Given the description of an element on the screen output the (x, y) to click on. 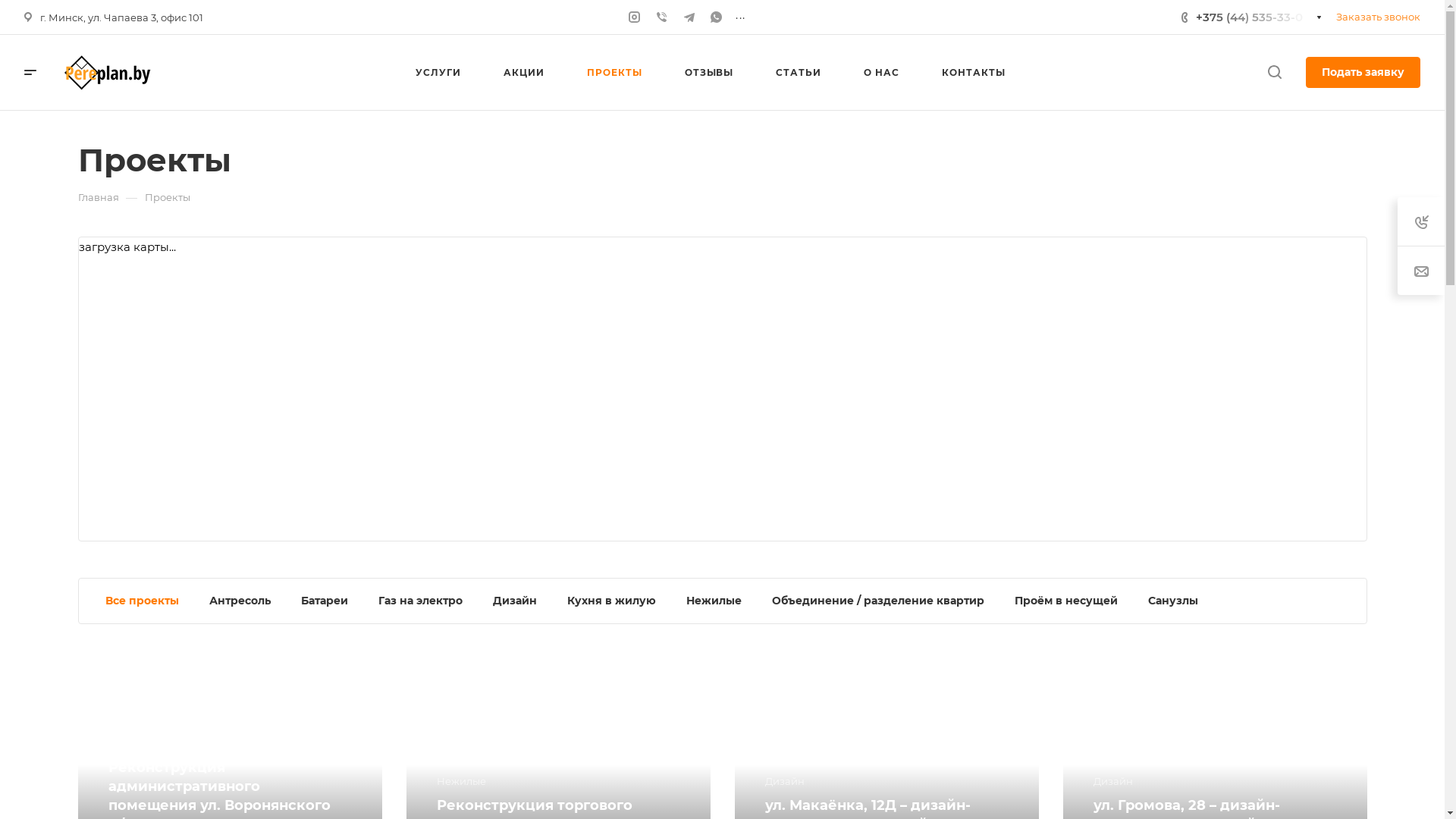
Telegram Element type: hover (688, 16)
Viber Element type: hover (661, 16)
Instagram Element type: hover (634, 16)
+375 (44) 535-33-0 Element type: text (1252, 16)
Whats App Element type: hover (716, 16)
